Given the description of an element on the screen output the (x, y) to click on. 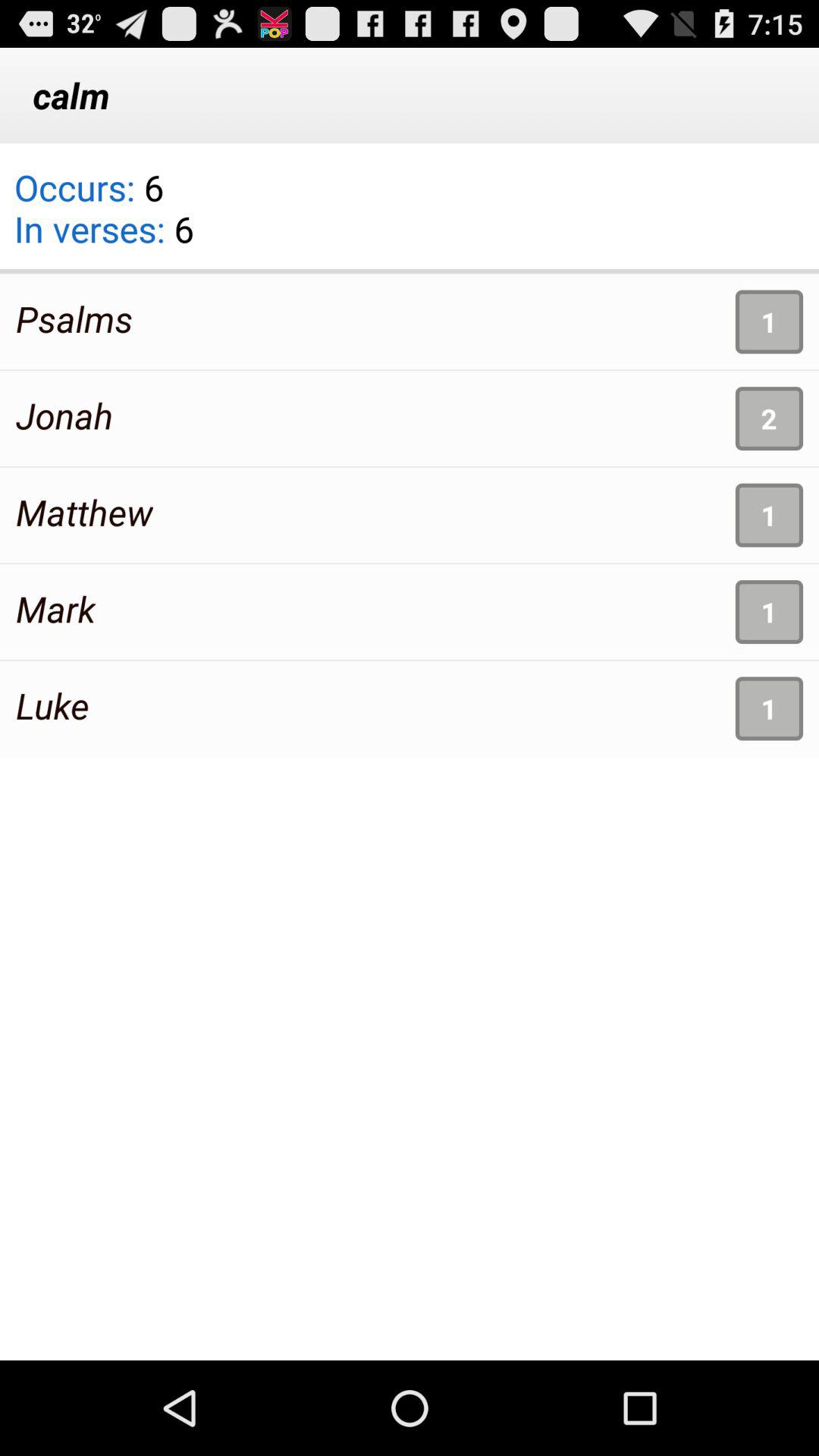
turn on app to the left of the 1 item (52, 705)
